Given the description of an element on the screen output the (x, y) to click on. 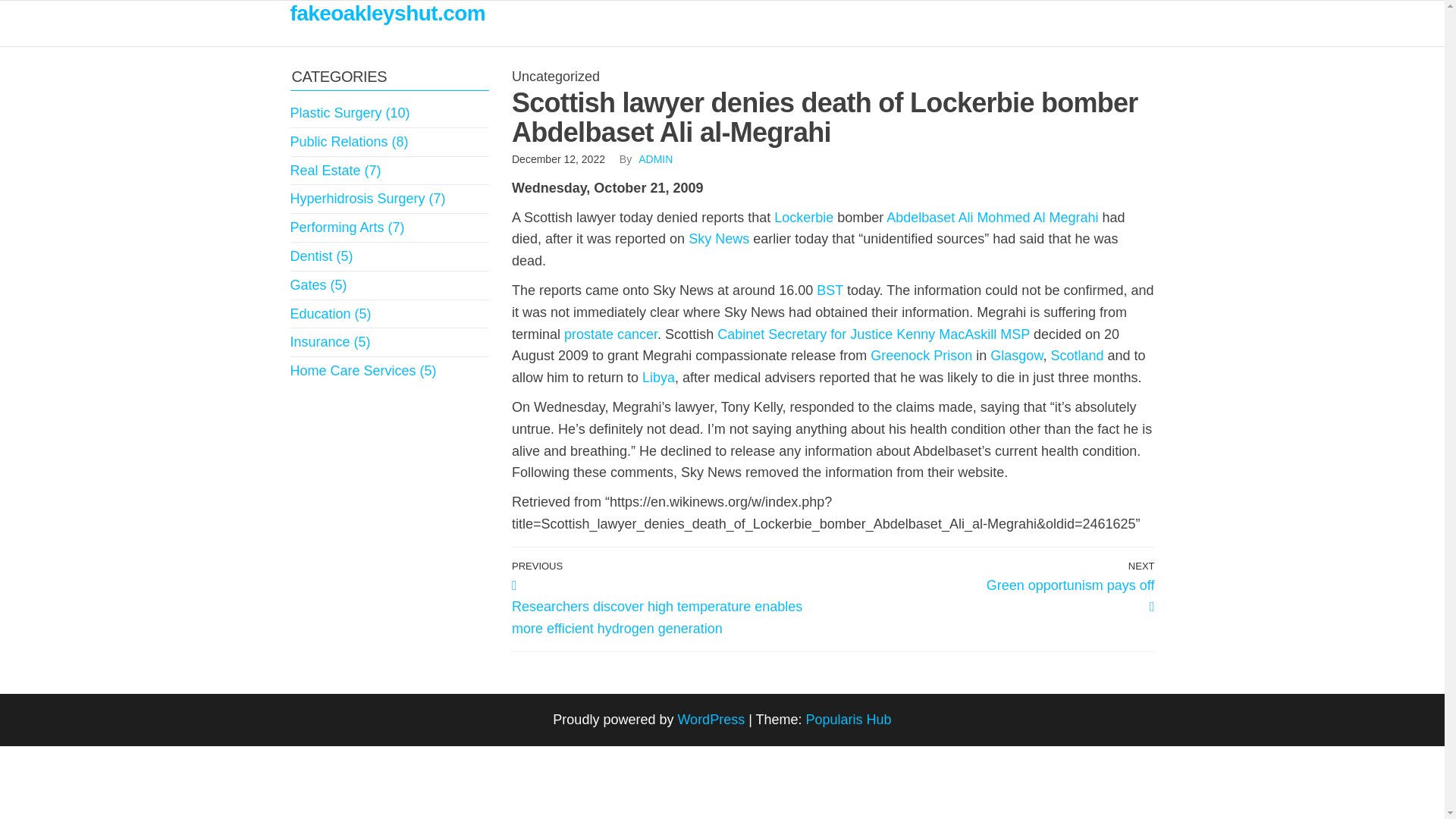
Popularis Hub (848, 719)
Abdelbaset Ali Mohmed Al Megrahi (991, 217)
Sky News (718, 238)
BST (829, 290)
Cabinet Secretary for Justice (804, 334)
Scotland (1076, 355)
Greenock Prison (921, 355)
MSP (1014, 334)
prostate cancer (611, 334)
Kenny MacAskill (945, 334)
WordPress (710, 719)
ADMIN (655, 159)
Glasgow (1016, 355)
Libya (658, 377)
